Given the description of an element on the screen output the (x, y) to click on. 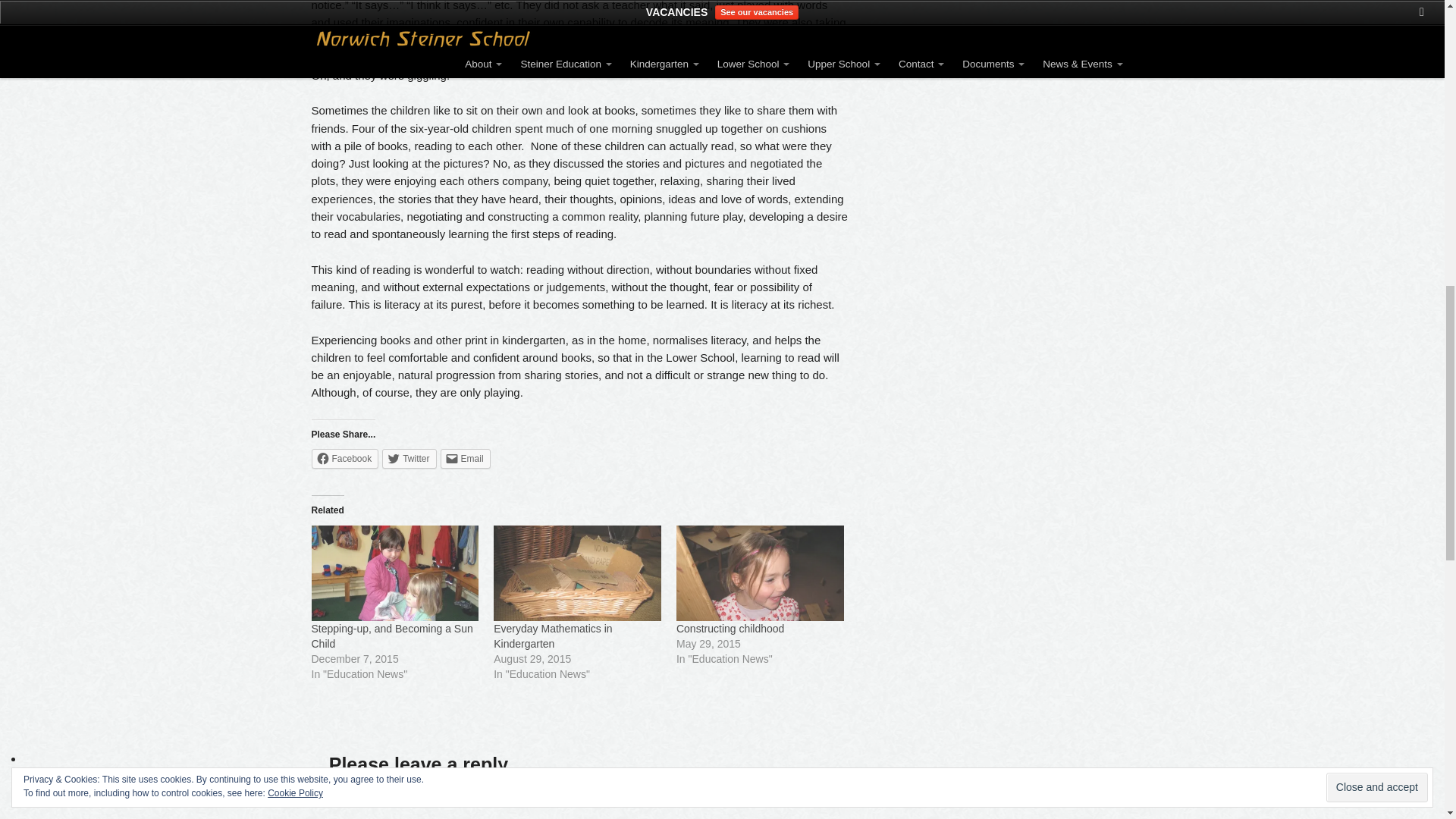
Click to share on Twitter (408, 458)
Constructing childhood (760, 572)
Constructing childhood (730, 628)
Stepping-up, and Becoming a Sun Child (395, 572)
Everyday Mathematics in Kindergarten (552, 636)
Click to share on Facebook (344, 458)
Click to email this to a friend (465, 458)
Everyday Mathematics in Kindergarten (577, 572)
Stepping-up, and Becoming a Sun Child (391, 636)
